Given the description of an element on the screen output the (x, y) to click on. 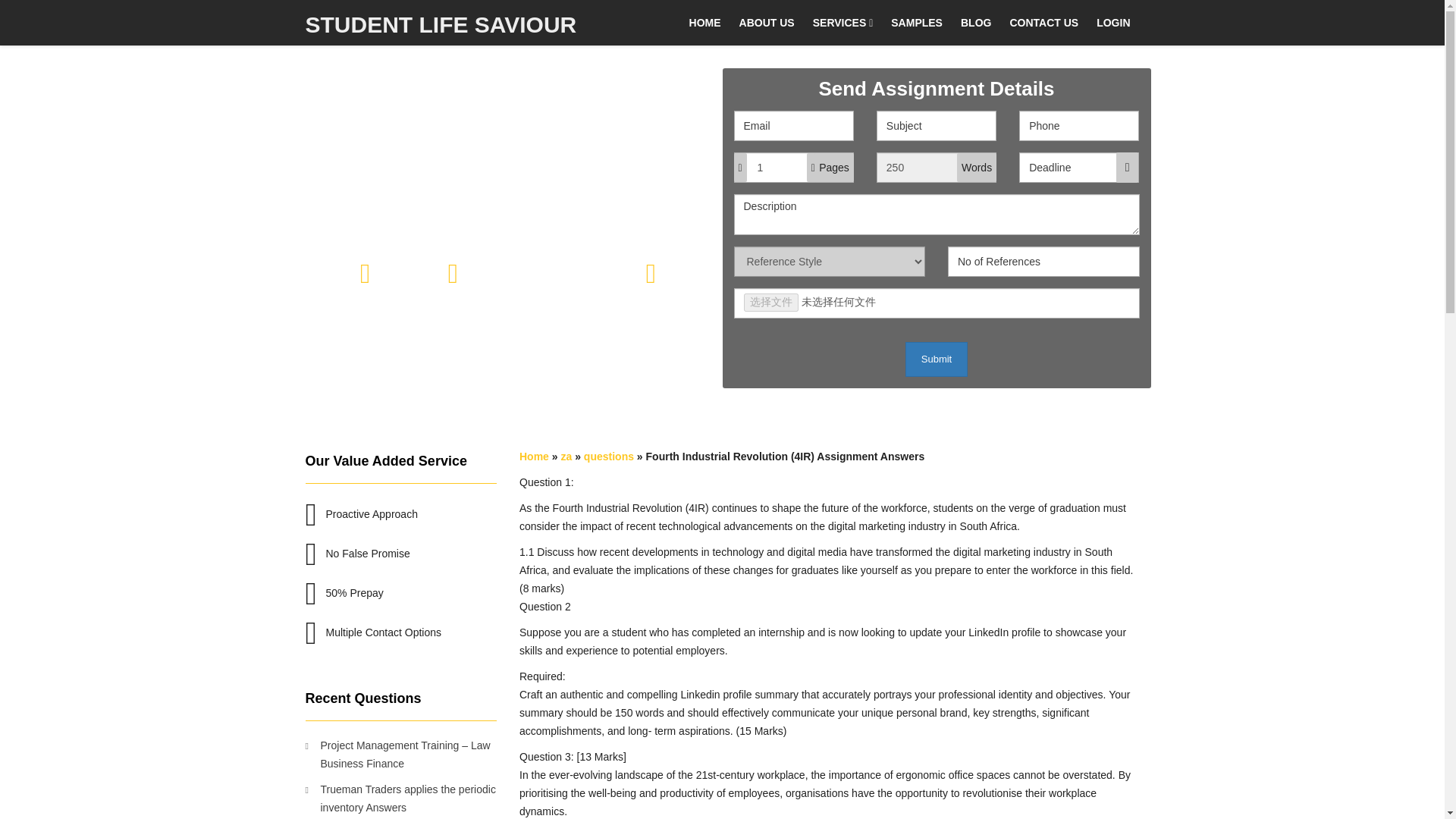
Home (533, 456)
Submit (936, 359)
BLOG (976, 22)
LOGIN (1112, 22)
questions (608, 456)
za (566, 456)
HOME (704, 22)
CONTACT US (1043, 22)
STUDENT LIFE SAVIOUR (441, 22)
SERVICES (842, 22)
